Given the description of an element on the screen output the (x, y) to click on. 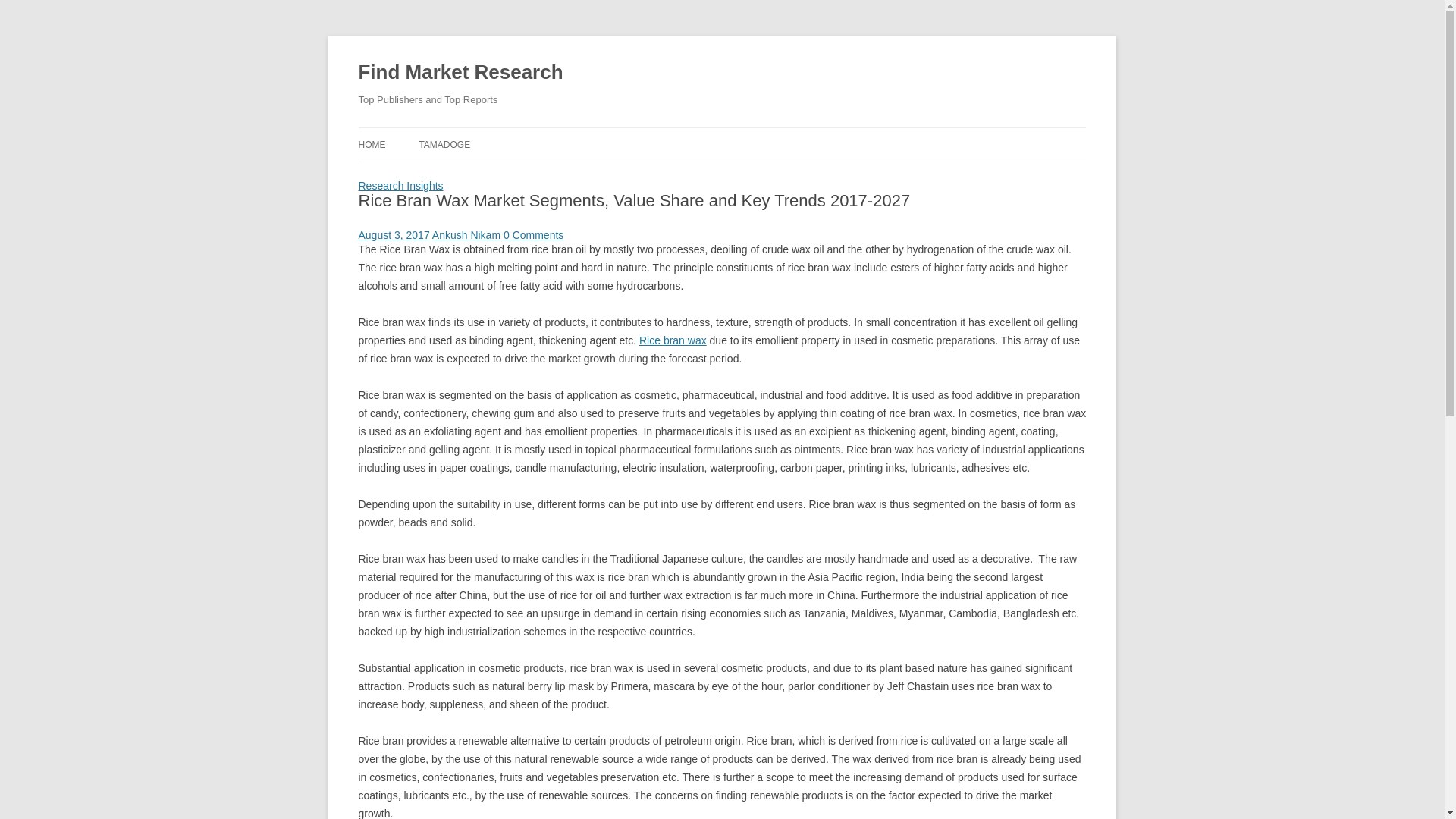
TAMADOGE (444, 144)
Rice bran wax (672, 340)
Ankush Nikam (466, 234)
Ankush Nikam (466, 234)
Research Insights (400, 185)
Find Market Research (460, 72)
Find Market Research (460, 72)
Skip to content (757, 132)
7:42 am (393, 234)
0 Comments (533, 234)
Skip to content (757, 132)
August 3, 2017 (393, 234)
